Given the description of an element on the screen output the (x, y) to click on. 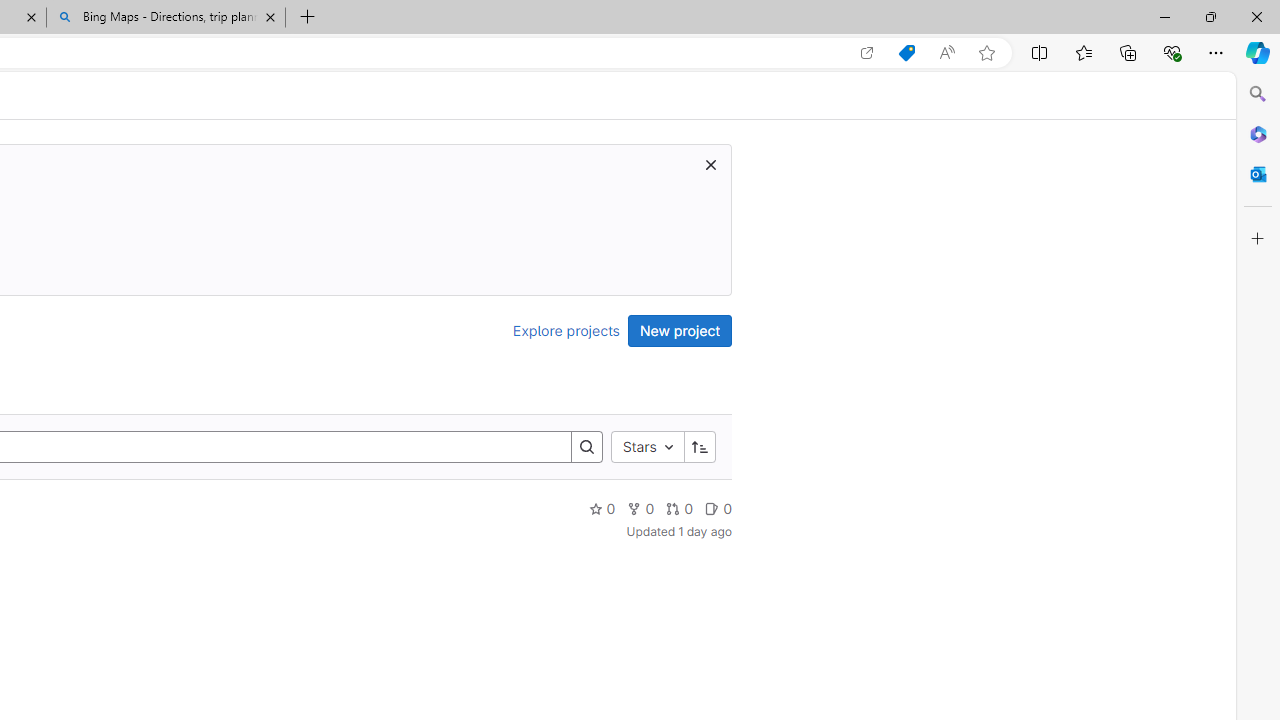
Explore projects (565, 330)
Class: s14 gl-mr-2 (712, 508)
Stars (647, 445)
New project (680, 330)
Sort direction: Ascending (699, 445)
